Given the description of an element on the screen output the (x, y) to click on. 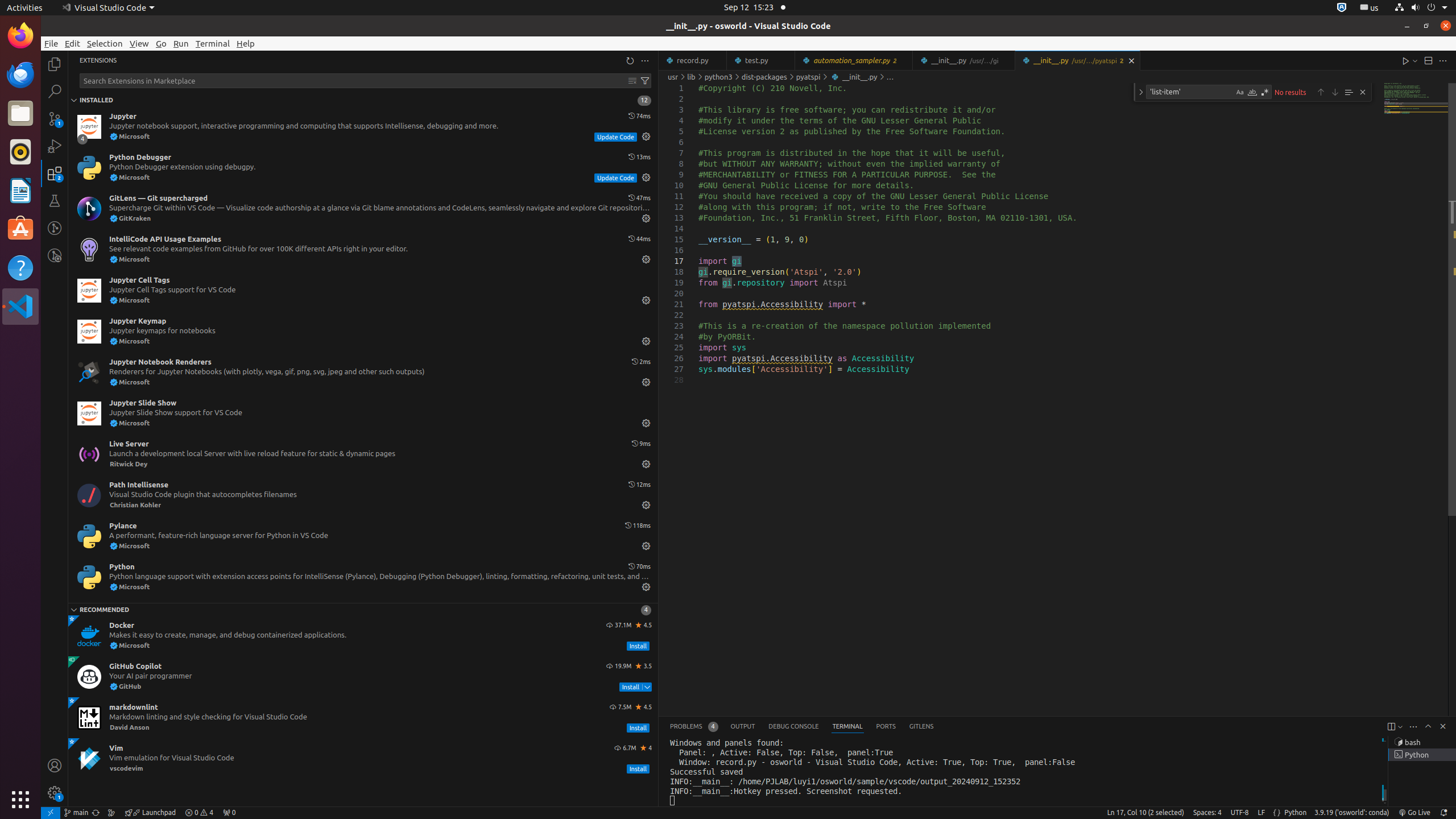
Terminal (Ctrl+`) Element type: page-tab (847, 726)
Match Whole Word (Alt+W) Element type: check-box (1252, 91)
Views and More Actions... Element type: push-button (1413, 726)
LF Element type: push-button (1261, 812)
